Given the description of an element on the screen output the (x, y) to click on. 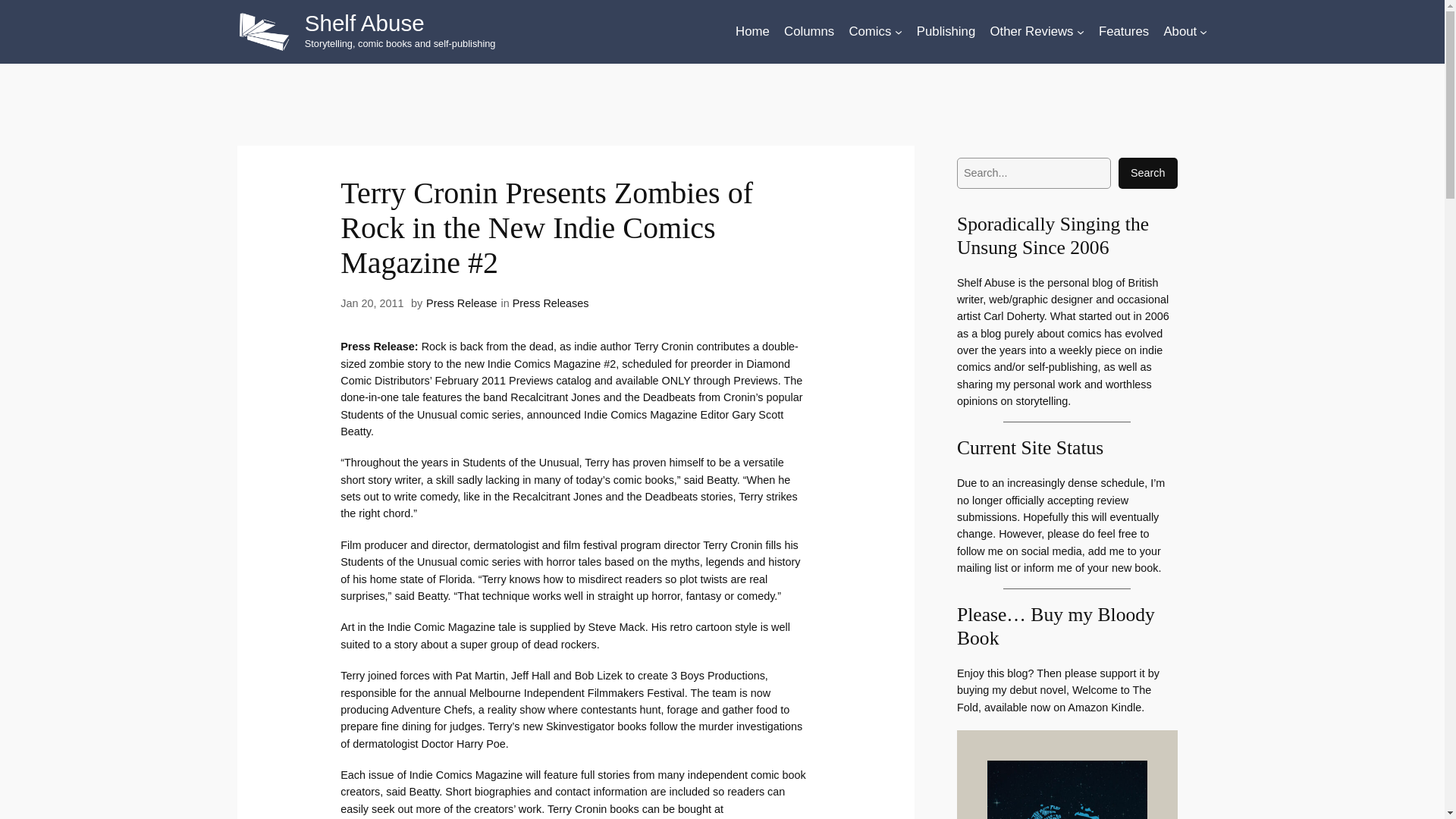
Press Release (461, 303)
Home (752, 31)
Columns (809, 31)
Jan 20, 2011 (371, 303)
Features (1123, 31)
Comics (869, 31)
Publishing (946, 31)
About (1179, 31)
Other Reviews (1031, 31)
Shelf Abuse (364, 23)
Press Releases (550, 303)
